Given the description of an element on the screen output the (x, y) to click on. 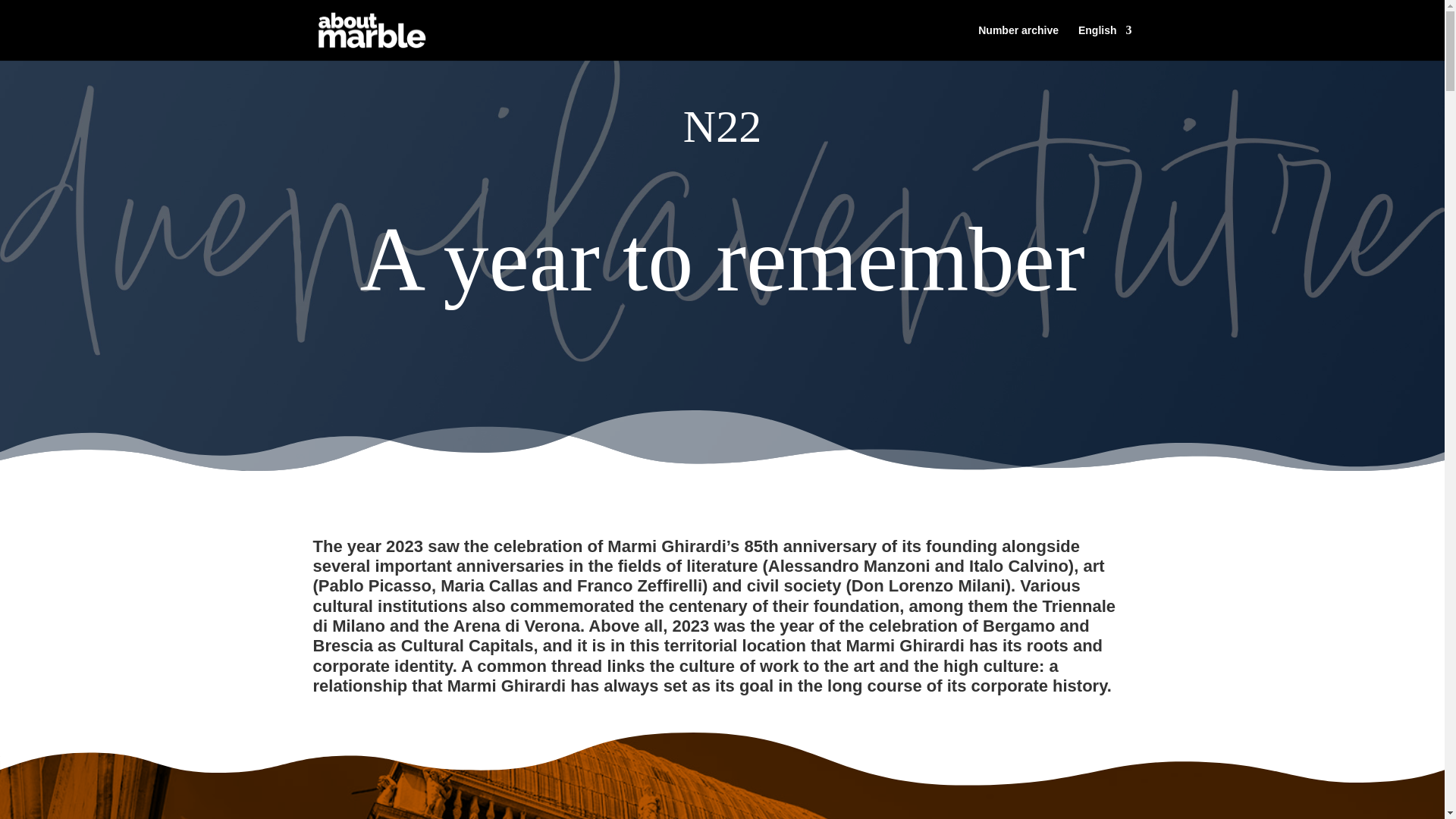
Number archive (1018, 42)
English (1105, 42)
English (1105, 42)
